Given the description of an element on the screen output the (x, y) to click on. 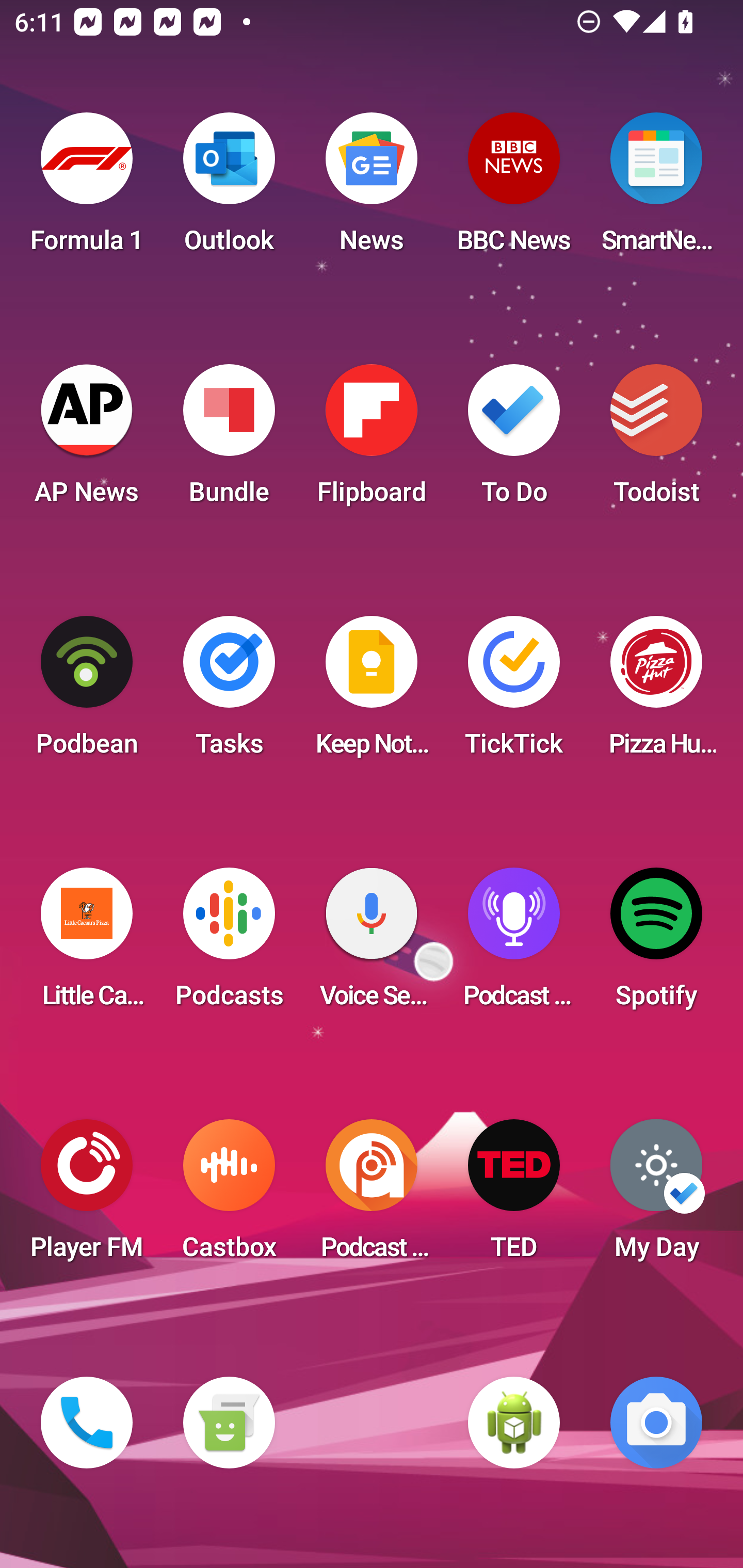
Formula 1 (86, 188)
Outlook (228, 188)
News (371, 188)
BBC News (513, 188)
SmartNews (656, 188)
AP News (86, 440)
Bundle (228, 440)
Flipboard (371, 440)
To Do (513, 440)
Todoist (656, 440)
Podbean (86, 692)
Tasks (228, 692)
Keep Notes (371, 692)
TickTick (513, 692)
Pizza Hut HK & Macau (656, 692)
Little Caesars Pizza (86, 943)
Podcasts (228, 943)
Voice Search (371, 943)
Podcast Player (513, 943)
Spotify (656, 943)
Player FM (86, 1195)
Castbox (228, 1195)
Podcast Addict (371, 1195)
TED (513, 1195)
My Day (656, 1195)
Phone (86, 1422)
Messaging (228, 1422)
WebView Browser Tester (513, 1422)
Camera (656, 1422)
